Given the description of an element on the screen output the (x, y) to click on. 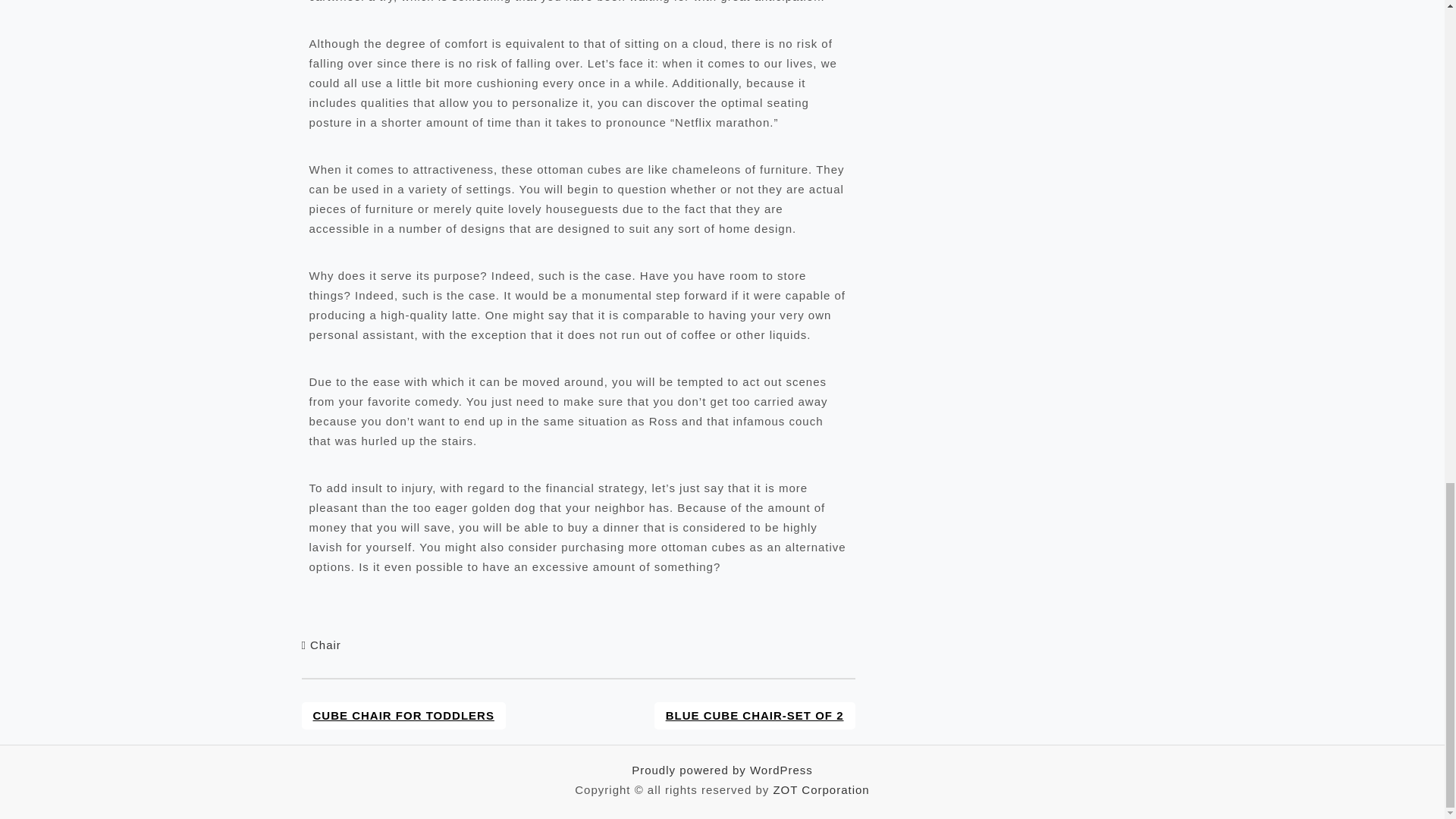
CUBE CHAIR FOR TODDLERS (403, 715)
Chair (325, 644)
ZOT Corporation (821, 789)
Proudly powered by WordPress (721, 769)
BLUE CUBE CHAIR-SET OF 2 (754, 715)
